Given the description of an element on the screen output the (x, y) to click on. 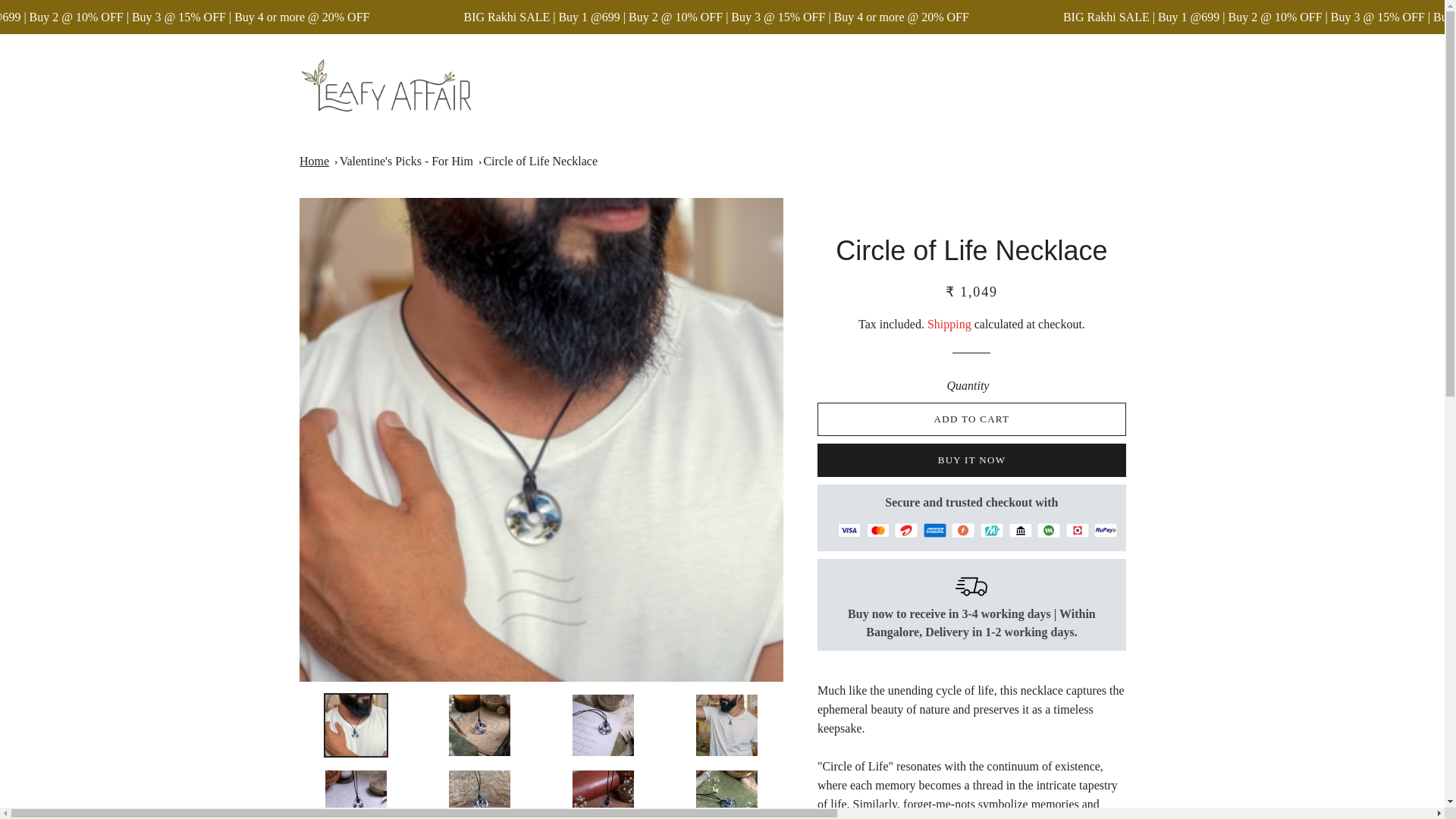
Freecharge (963, 530)
Mastercard (877, 530)
MobiKwik (991, 530)
NetBanking (1020, 530)
PayZapp (1077, 530)
Visa (849, 530)
RuPay (1105, 530)
Airtel Money (906, 530)
Ola Money (1047, 530)
American Express (934, 530)
